Given the description of an element on the screen output the (x, y) to click on. 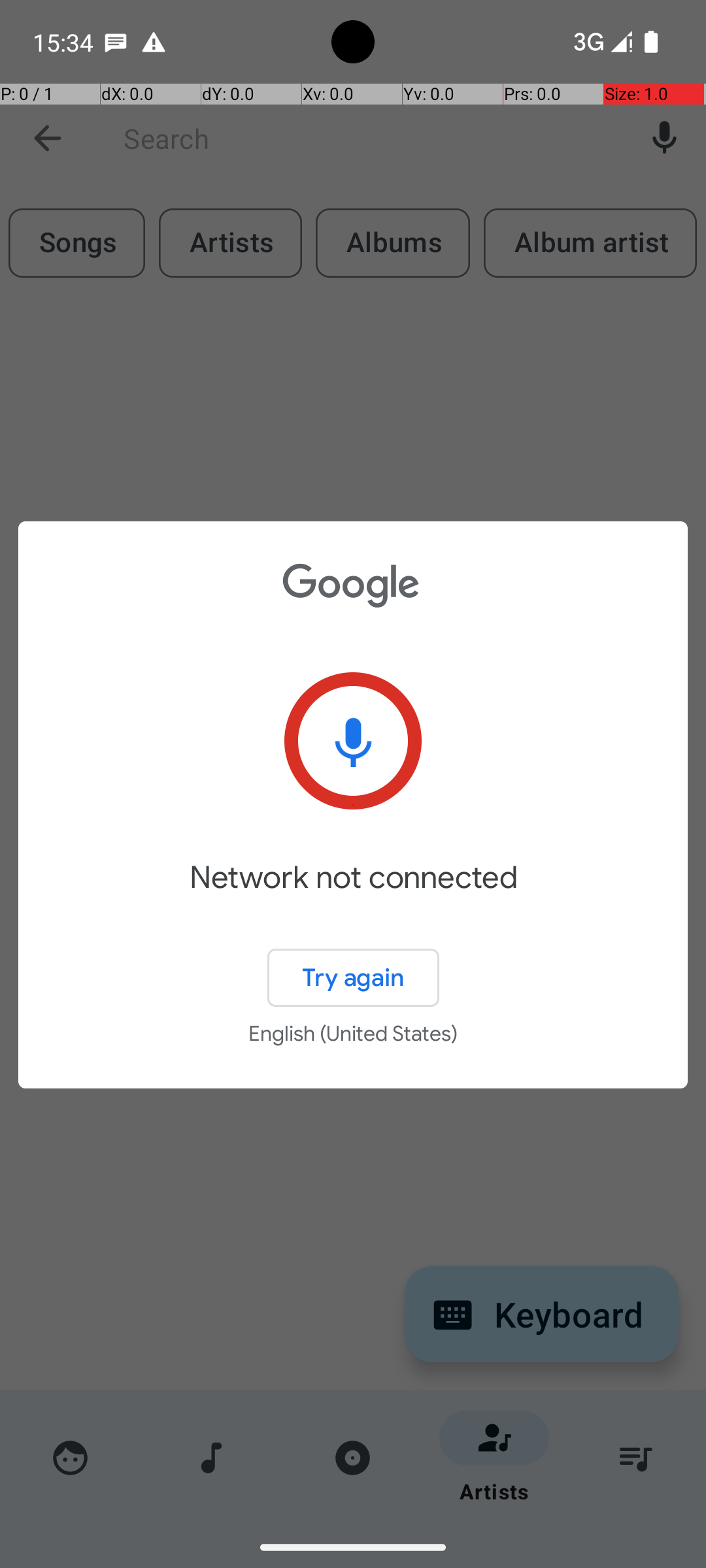
Network not connected Element type: android.widget.TextView (352, 895)
Try again Element type: android.widget.Button (353, 977)
